Given the description of an element on the screen output the (x, y) to click on. 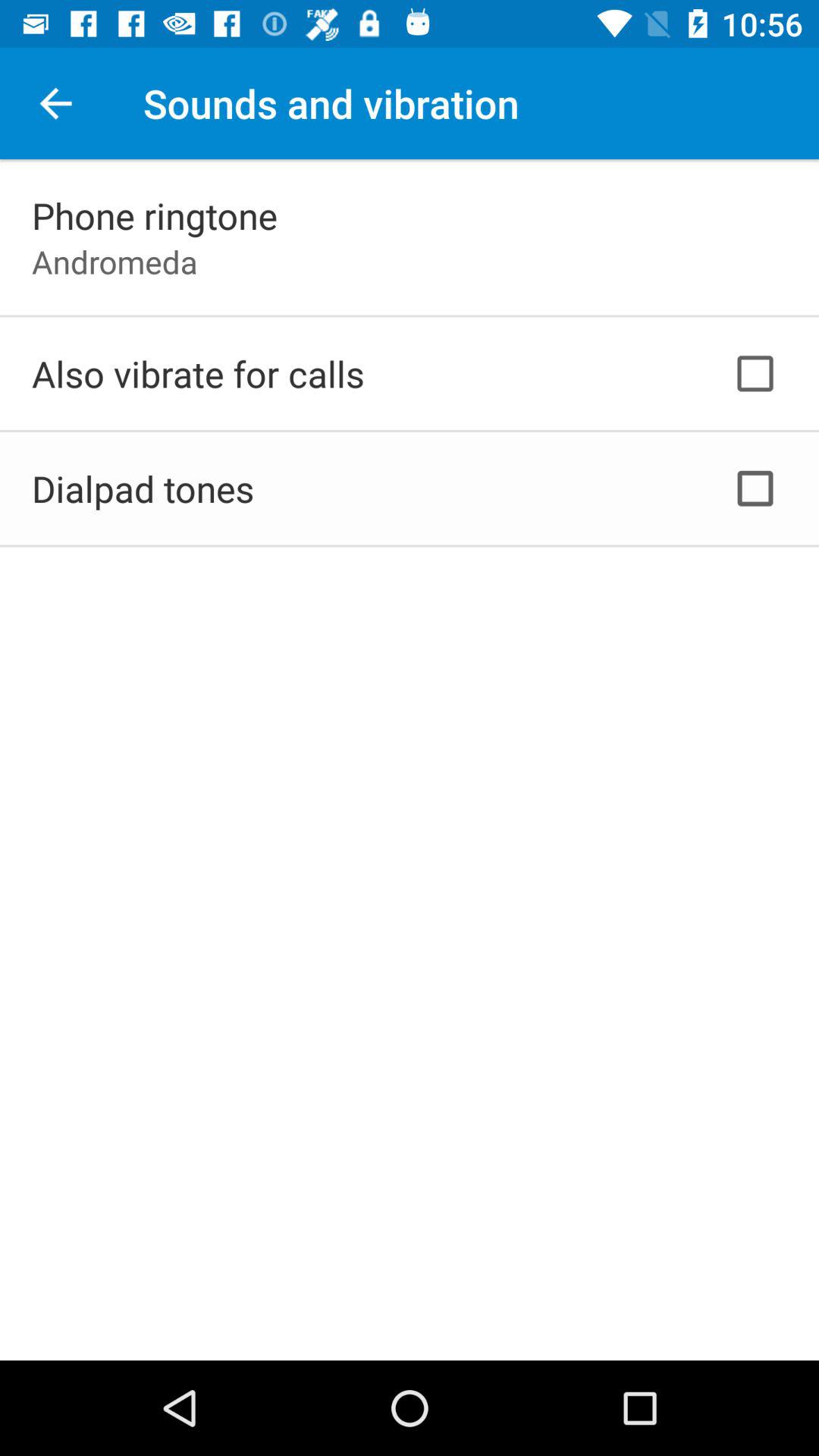
click app to the left of the sounds and vibration item (55, 103)
